Given the description of an element on the screen output the (x, y) to click on. 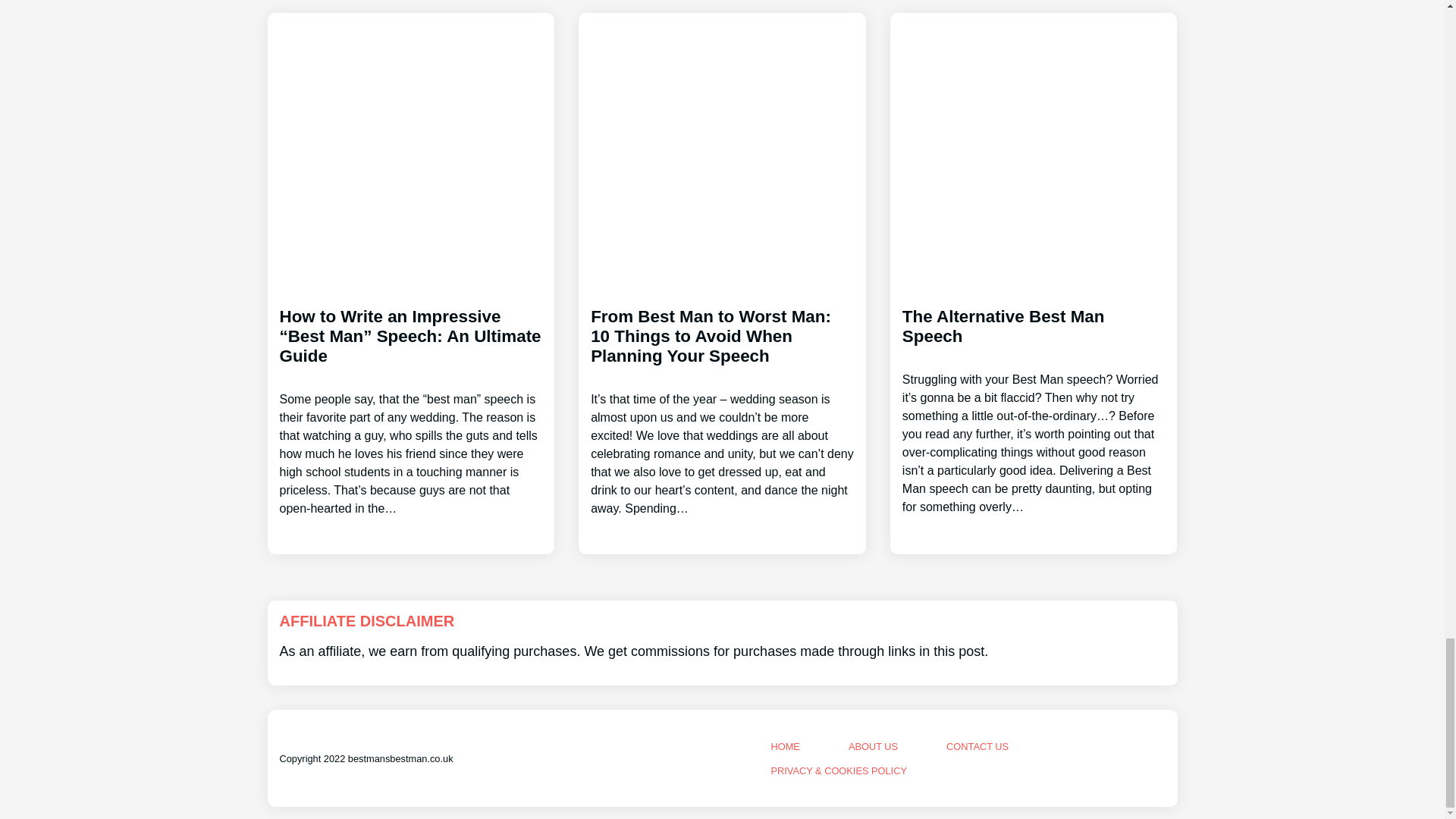
The Alternative Best Man Speech (1034, 398)
